Given the description of an element on the screen output the (x, y) to click on. 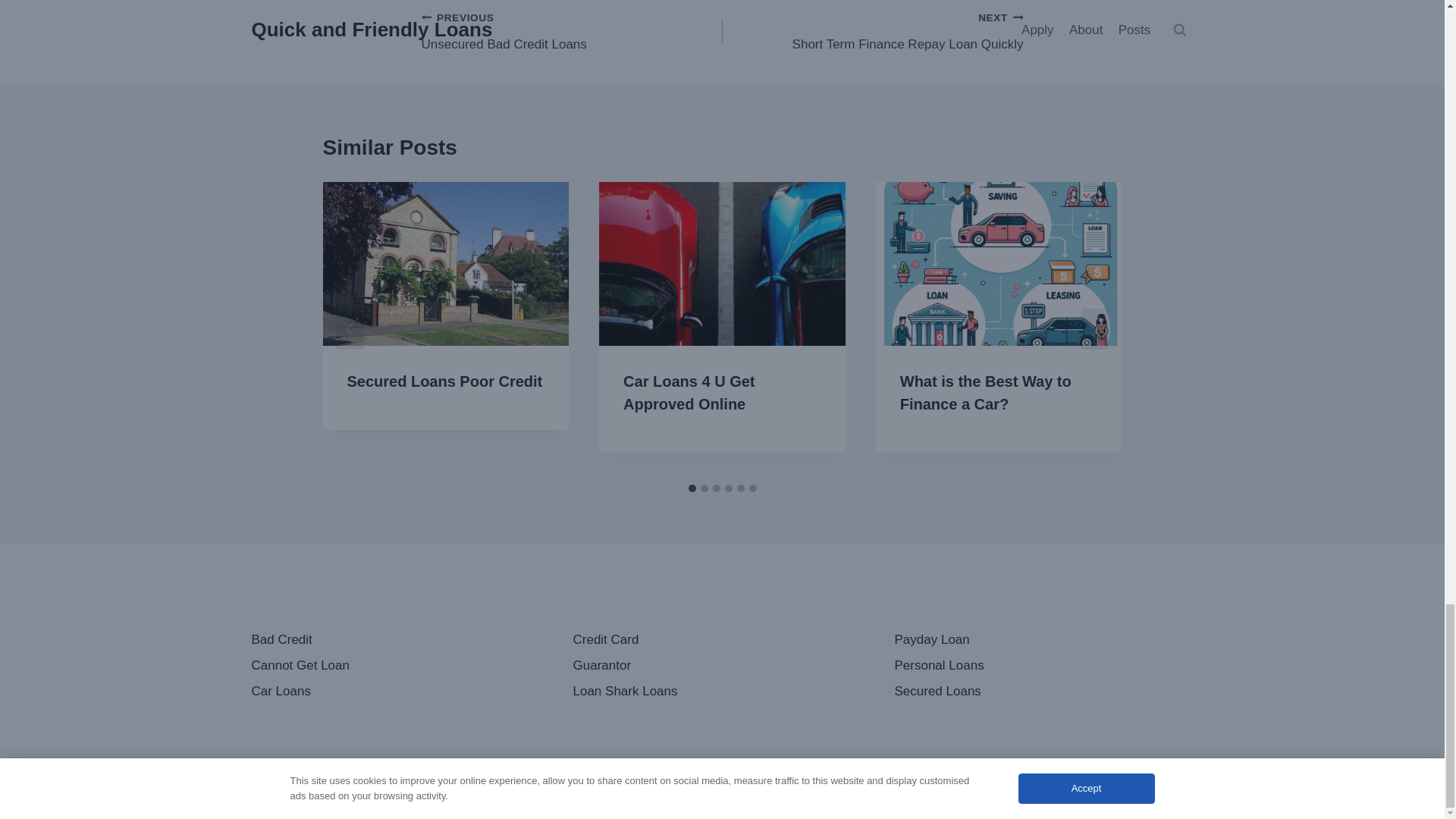
Secured Loans Poor Credit (443, 381)
